Given the description of an element on the screen output the (x, y) to click on. 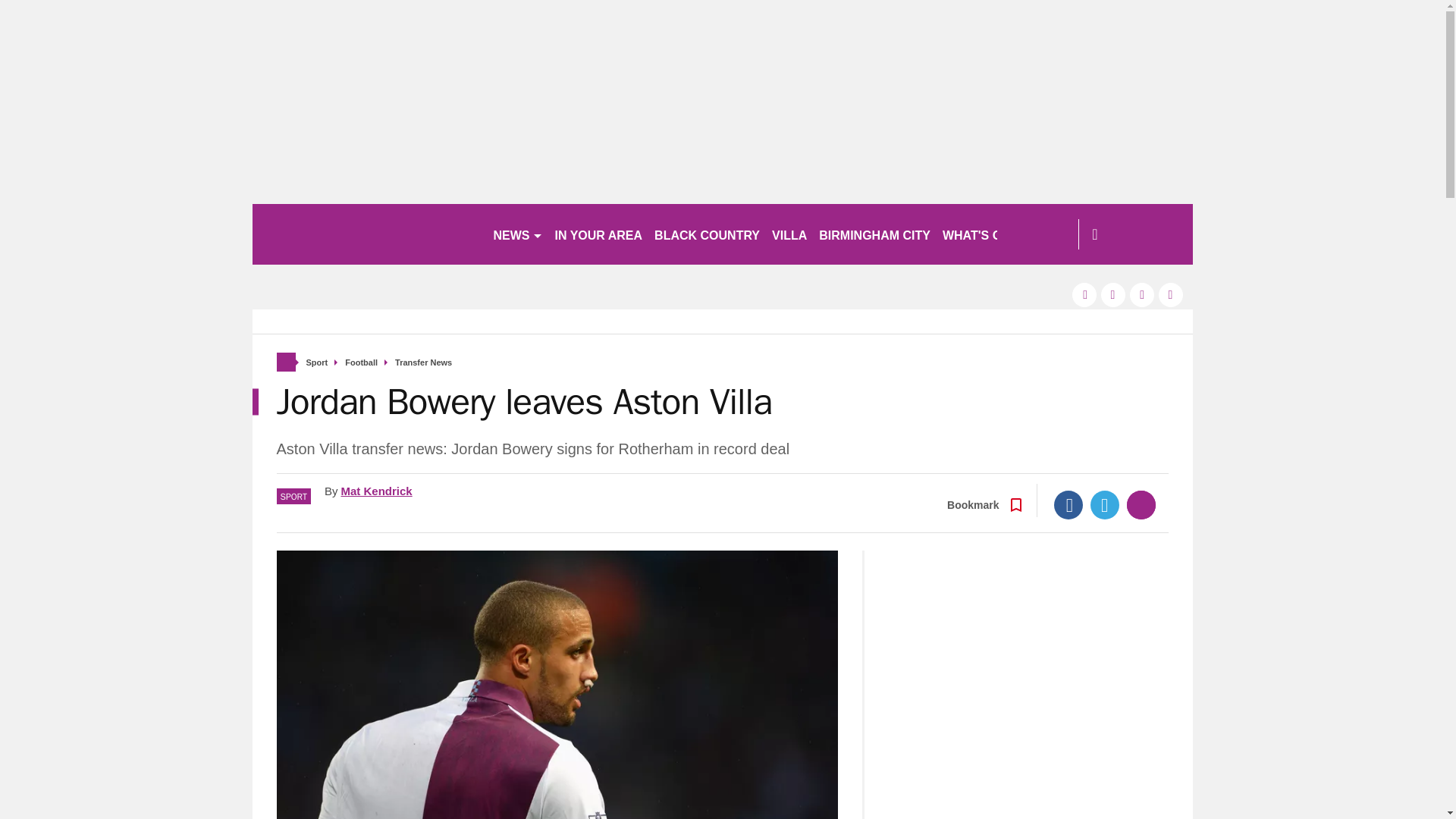
facebook (1083, 294)
birminghammail (365, 233)
Facebook (1068, 504)
instagram (1170, 294)
tiktok (1141, 294)
twitter (1112, 294)
BLACK COUNTRY (706, 233)
WHAT'S ON (982, 233)
BIRMINGHAM CITY (874, 233)
Twitter (1104, 504)
IN YOUR AREA (598, 233)
NEWS (517, 233)
